Given the description of an element on the screen output the (x, y) to click on. 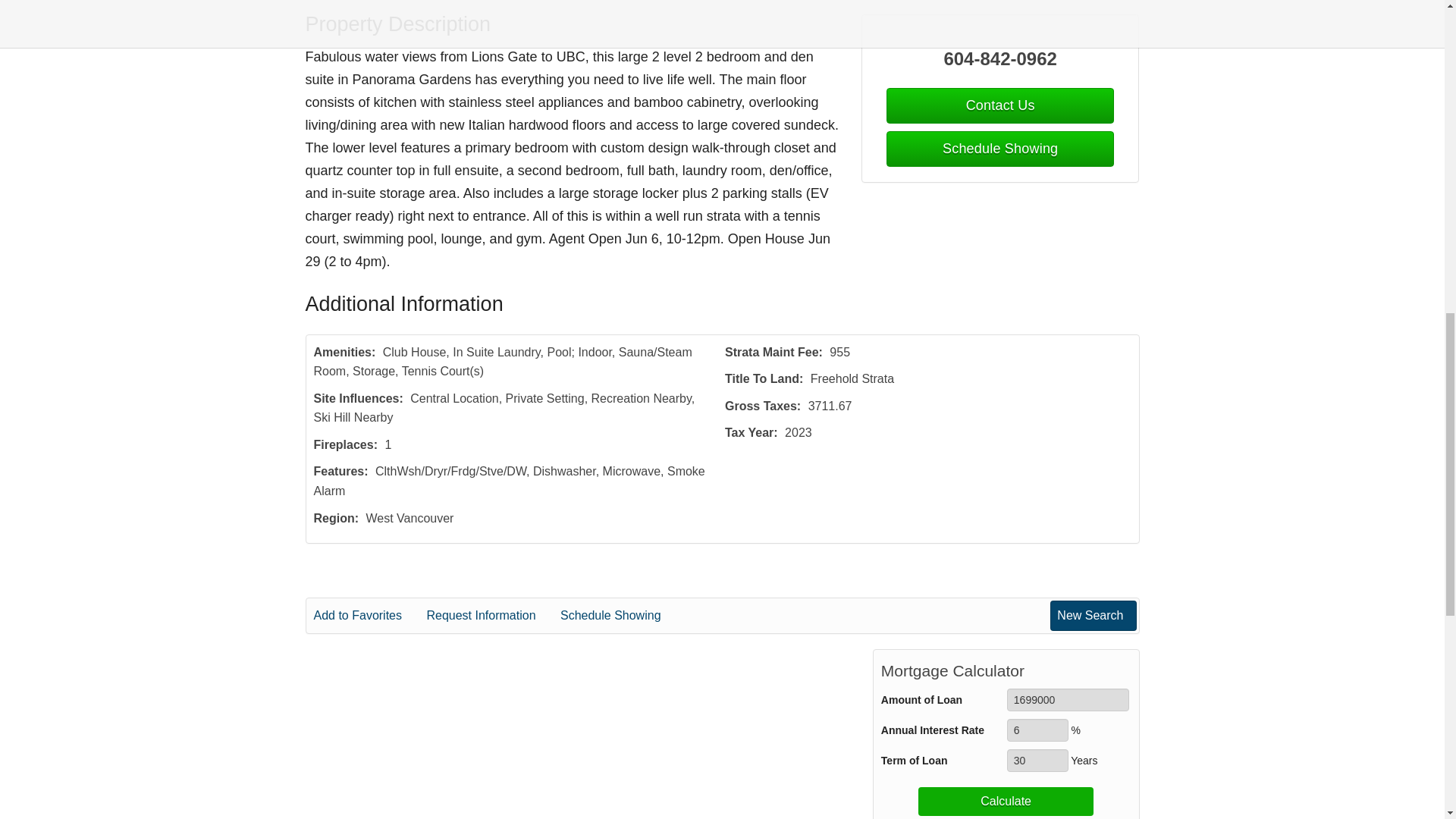
1699000 (1068, 699)
30 (1037, 760)
6 (1037, 730)
